Given the description of an element on the screen output the (x, y) to click on. 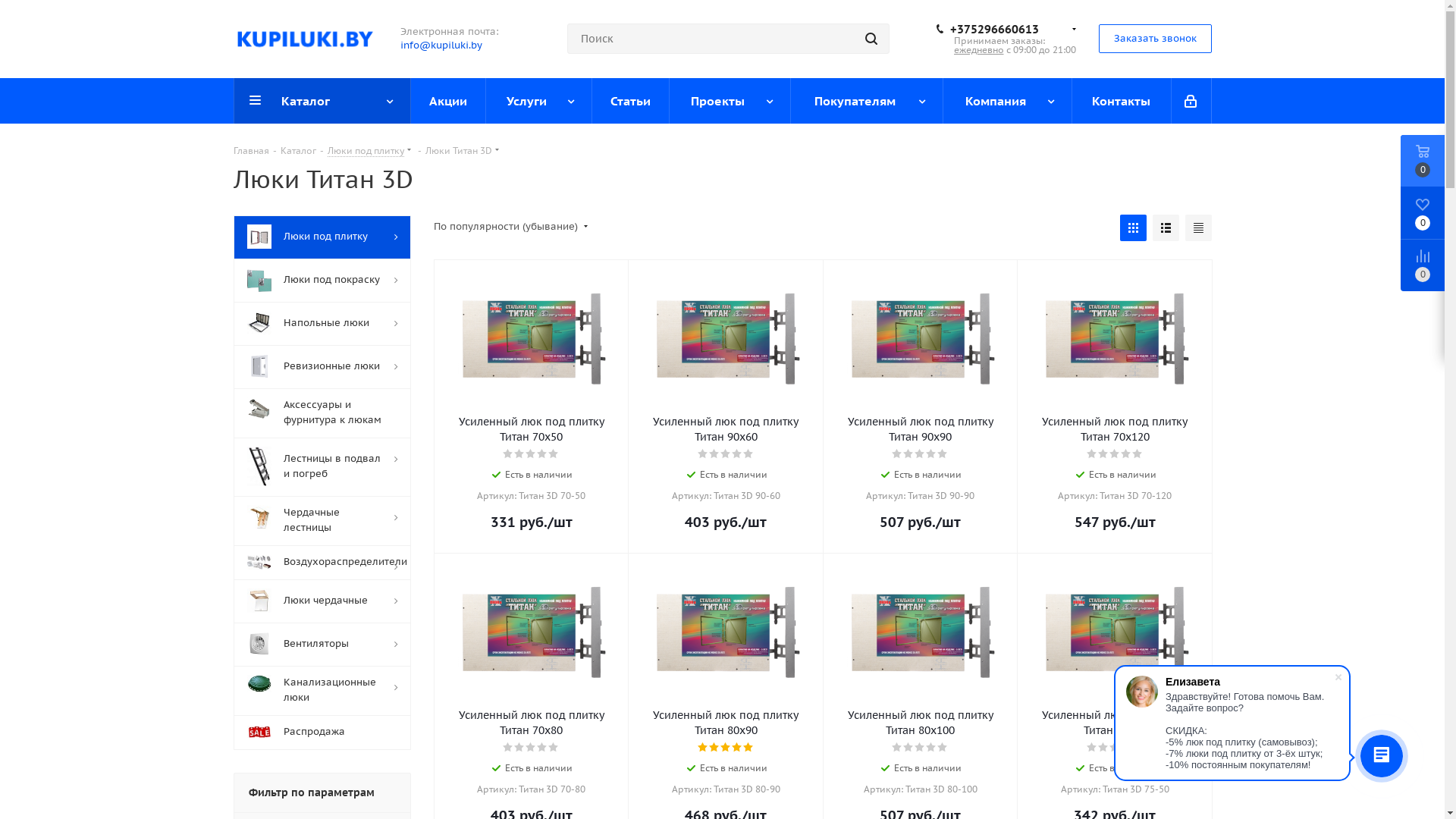
4 Element type: hover (542, 747)
2 Element type: hover (714, 747)
3 Element type: hover (725, 453)
2 Element type: hover (1103, 747)
5 Element type: hover (748, 453)
1 Element type: hover (508, 453)
4 Element type: hover (737, 453)
1 Element type: hover (703, 453)
4 Element type: hover (542, 453)
2 Element type: hover (519, 453)
1 Element type: hover (897, 747)
1 Element type: hover (1092, 453)
+375296660613 Element type: text (1007, 29)
5 Element type: hover (1137, 453)
4 Element type: hover (737, 747)
1 Element type: hover (897, 453)
4 Element type: hover (1126, 747)
3 Element type: hover (725, 747)
5 Element type: hover (553, 747)
1 Element type: hover (508, 747)
5 Element type: hover (942, 747)
2 Element type: hover (908, 747)
2 Element type: hover (908, 453)
2 Element type: hover (519, 747)
5 Element type: hover (1137, 747)
3 Element type: hover (1114, 747)
4 Element type: hover (931, 747)
4 Element type: hover (931, 453)
Y Element type: text (4, 4)
info@kupiluki.by Element type: text (441, 44)
2 Element type: hover (714, 453)
5 Element type: hover (942, 453)
5 Element type: hover (553, 453)
5 Element type: hover (748, 747)
2 Element type: hover (1103, 453)
3 Element type: hover (1114, 453)
1 Element type: hover (1092, 747)
3 Element type: hover (530, 453)
3 Element type: hover (919, 747)
1 Element type: hover (703, 747)
4 Element type: hover (1126, 453)
3 Element type: hover (919, 453)
3 Element type: hover (530, 747)
kupiluki.webworking.by Element type: hover (305, 38)
